Given the description of an element on the screen output the (x, y) to click on. 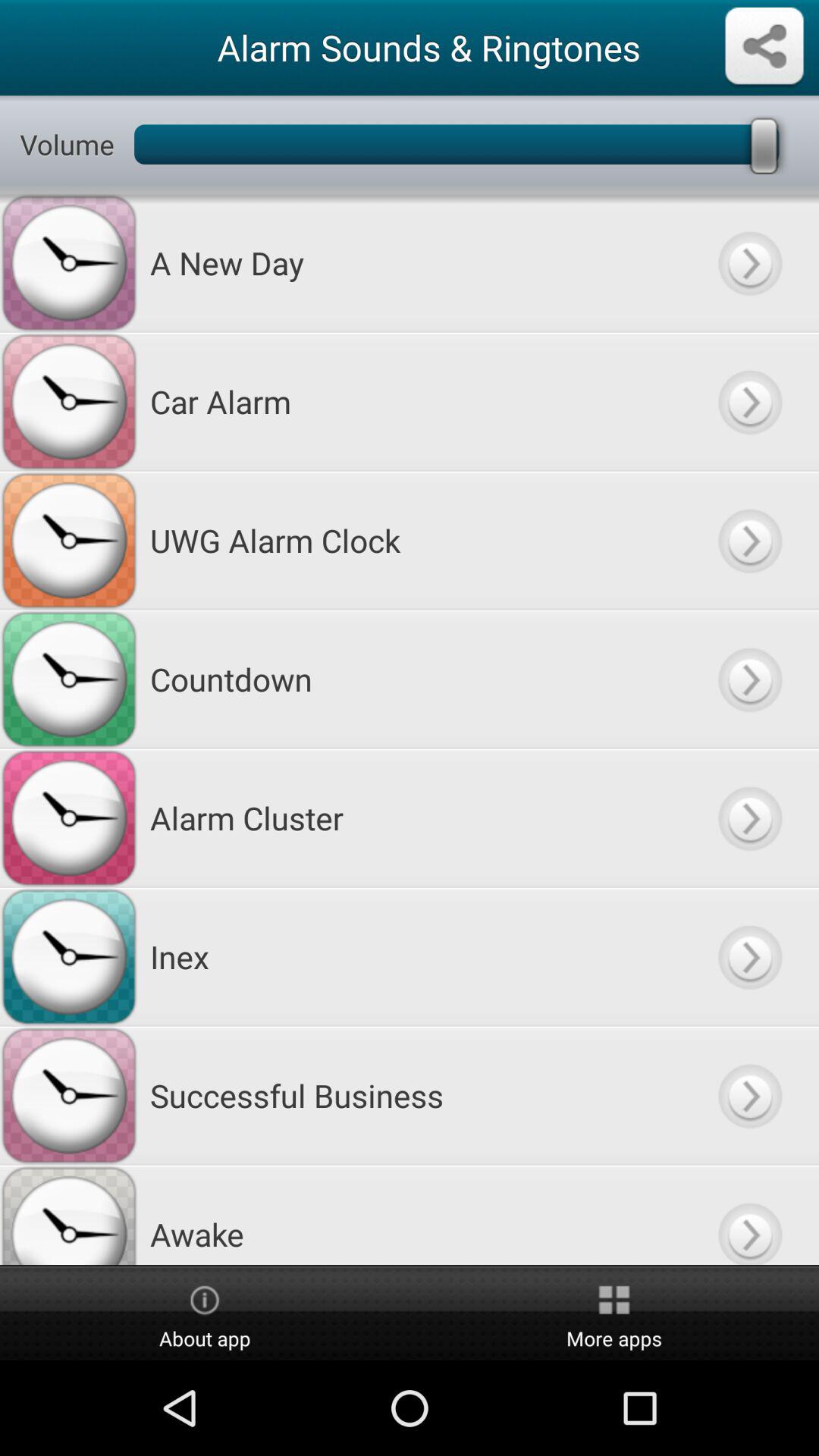
select sound (749, 1095)
